Given the description of an element on the screen output the (x, y) to click on. 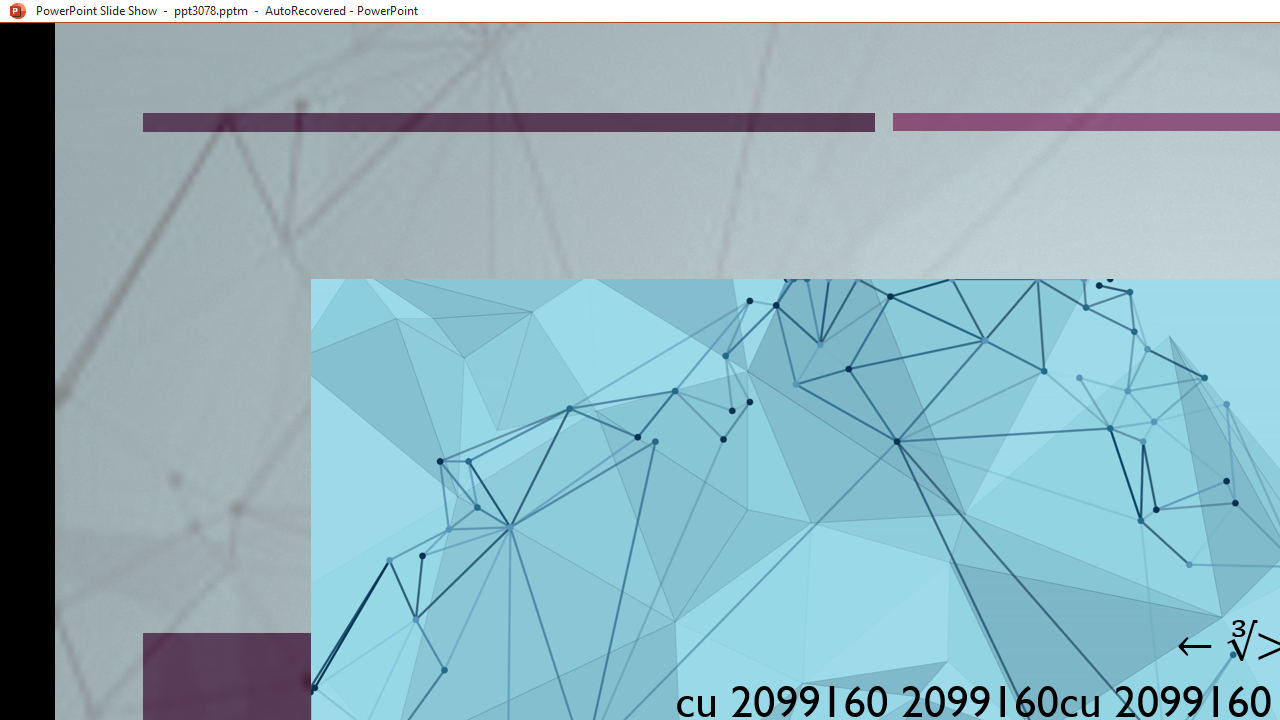
System (10, 11)
System (10, 11)
